Given the description of an element on the screen output the (x, y) to click on. 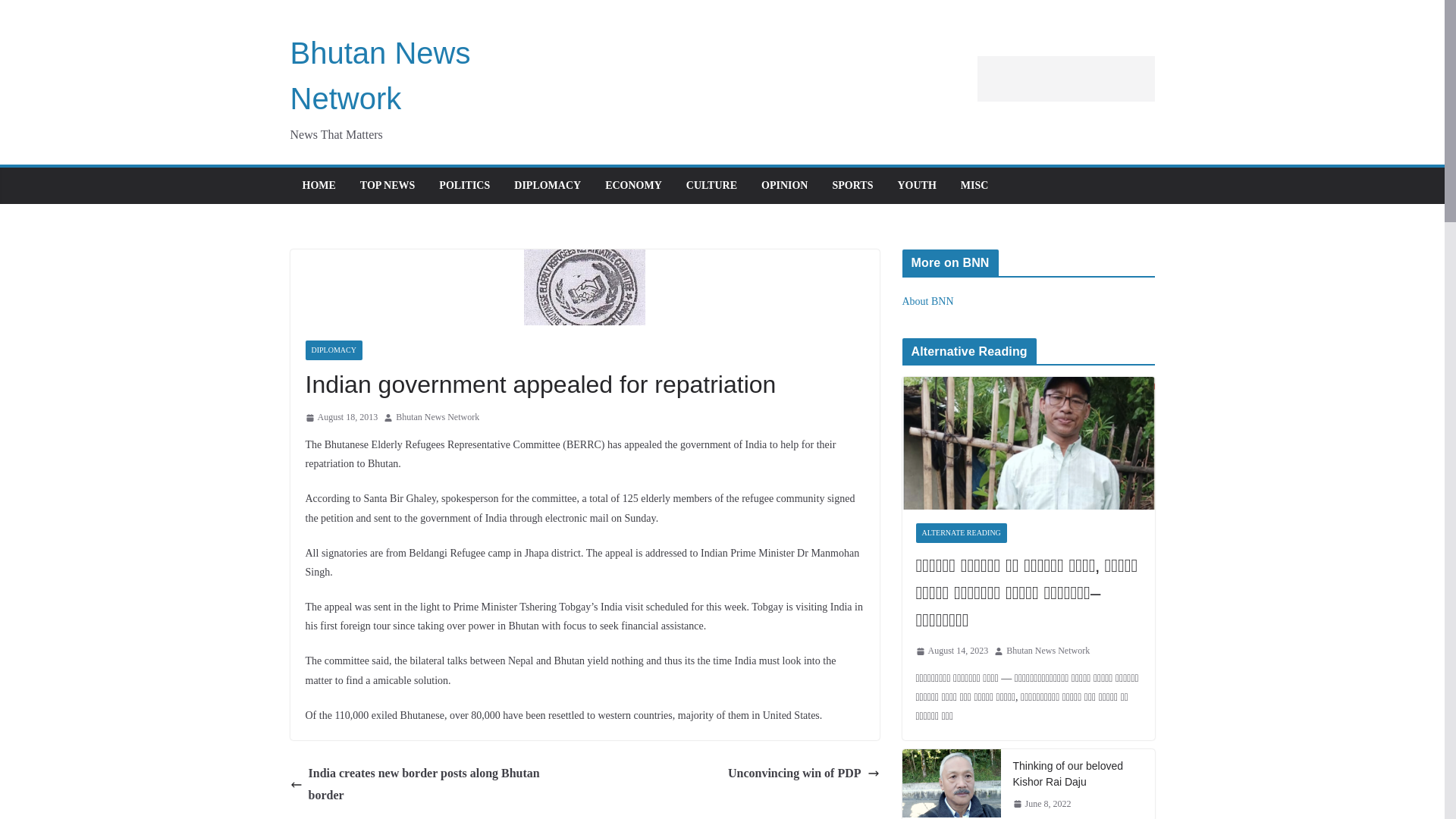
11:15 pm (340, 417)
DIPLOMACY (546, 185)
SPORTS (851, 185)
POLITICS (464, 185)
Advertisement (1065, 78)
Bhutan News Network (1047, 651)
Bhutan News Network (437, 417)
CULTURE (710, 185)
HOME (317, 185)
ECONOMY (633, 185)
